Given the description of an element on the screen output the (x, y) to click on. 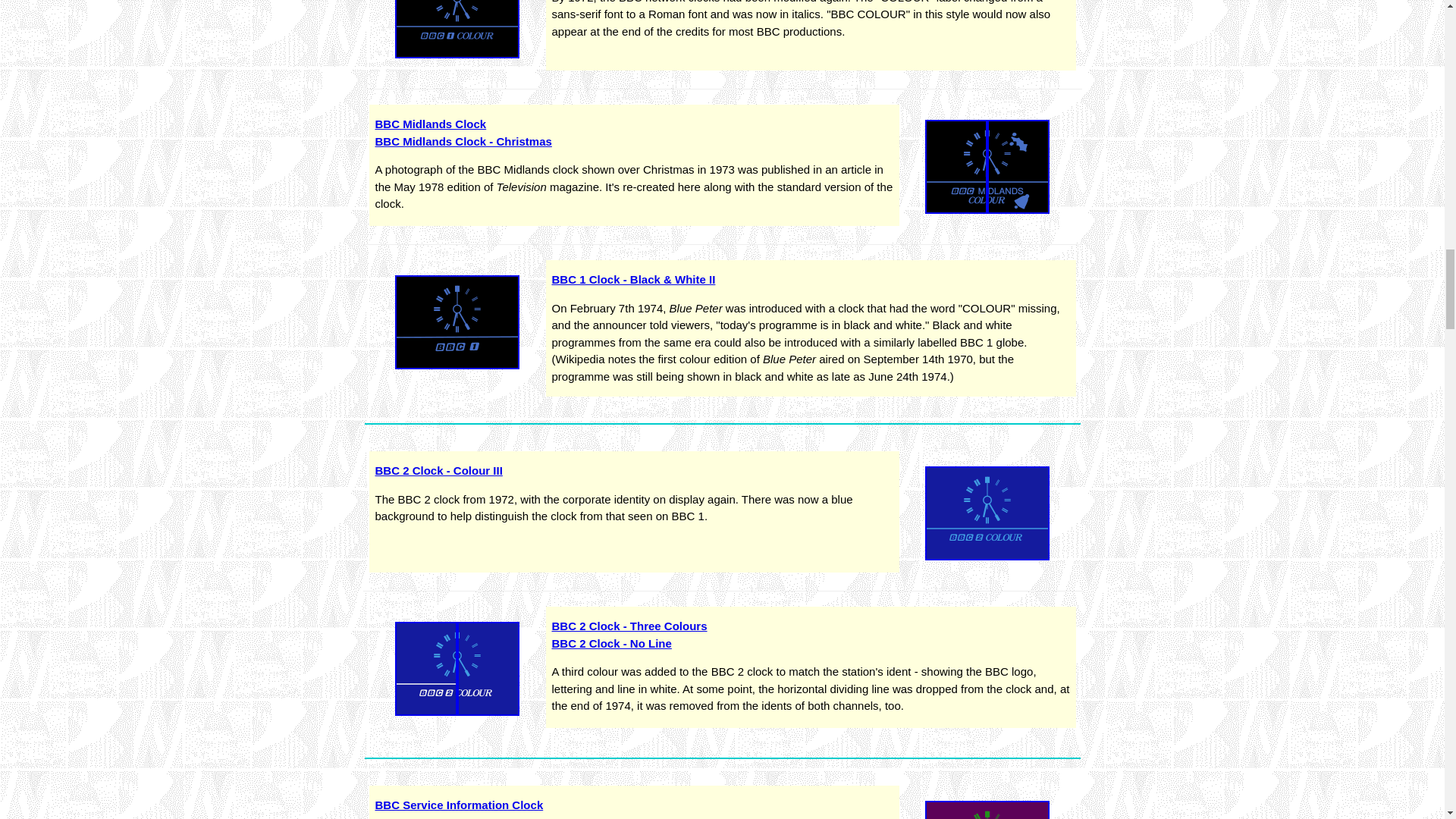
BBC 1 Clock from 1972 used for Black and White programmes (456, 322)
BBC 1 Clock from 1972 (456, 29)
BBC Colour Service Information Clock (986, 809)
BBC 2 Clock from 1972 (986, 513)
